Given the description of an element on the screen output the (x, y) to click on. 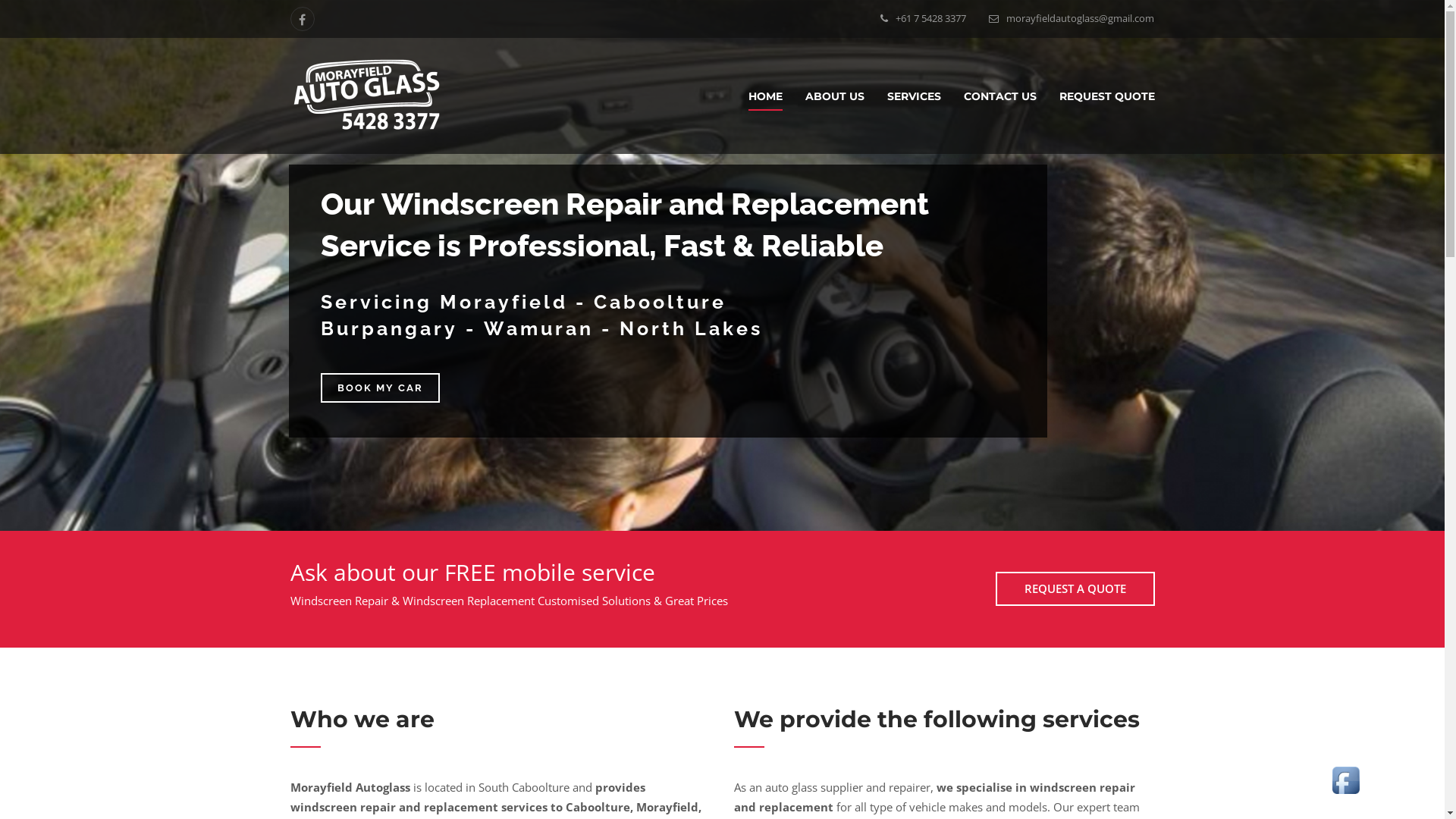
BOOK MY CAR Element type: text (379, 387)
CONTACT US Element type: text (999, 96)
REQUEST A QUOTE
REQUEST A QUOTE Element type: text (1074, 588)
morayfieldautoglass@gmail.com Element type: text (1080, 18)
SERVICES Element type: text (914, 96)
REQUEST QUOTE Element type: text (1106, 96)
HOME Element type: text (764, 96)
ABOUT US Element type: text (834, 96)
Visit Us On Facebook Element type: hover (1345, 778)
